Given the description of an element on the screen output the (x, y) to click on. 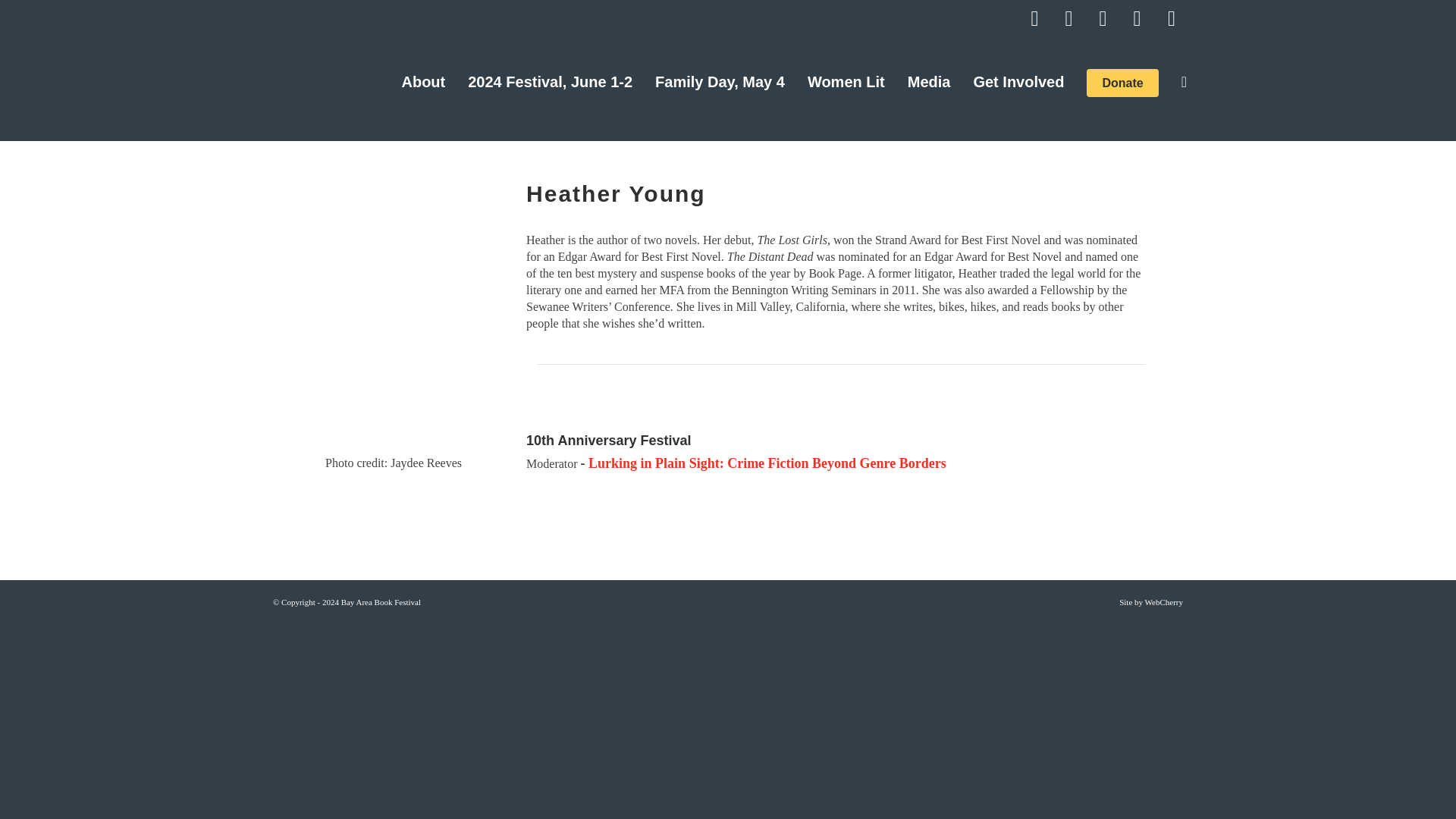
Women Lit (846, 81)
Instagram (1136, 18)
Youtube (1034, 18)
Facebook (1069, 18)
Media (929, 81)
Get Involved (1017, 81)
Twitter (1102, 18)
2024 Festival, June 1-2 (550, 81)
Rss (1171, 18)
Family Day, May 4 (719, 81)
About (423, 81)
